Given the description of an element on the screen output the (x, y) to click on. 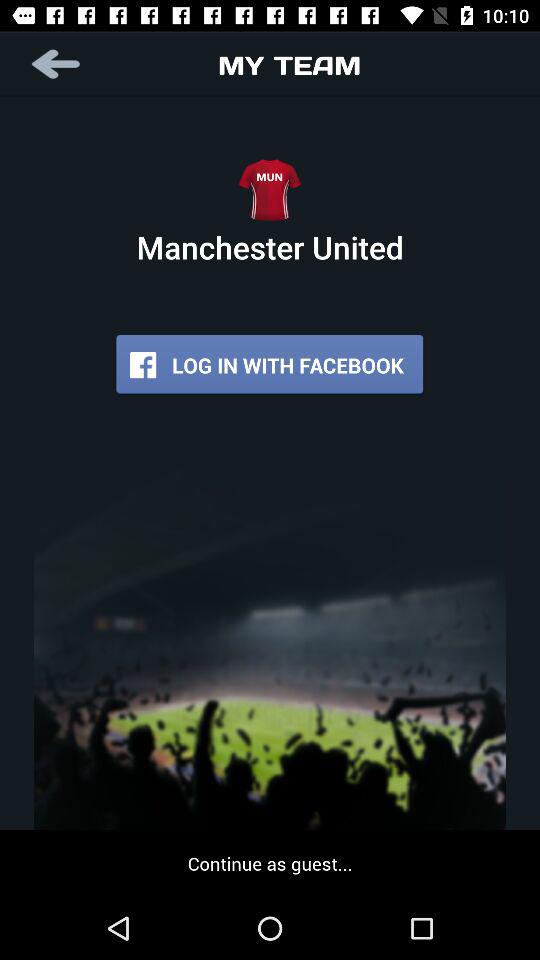
open icon below the manchester united (269, 364)
